Given the description of an element on the screen output the (x, y) to click on. 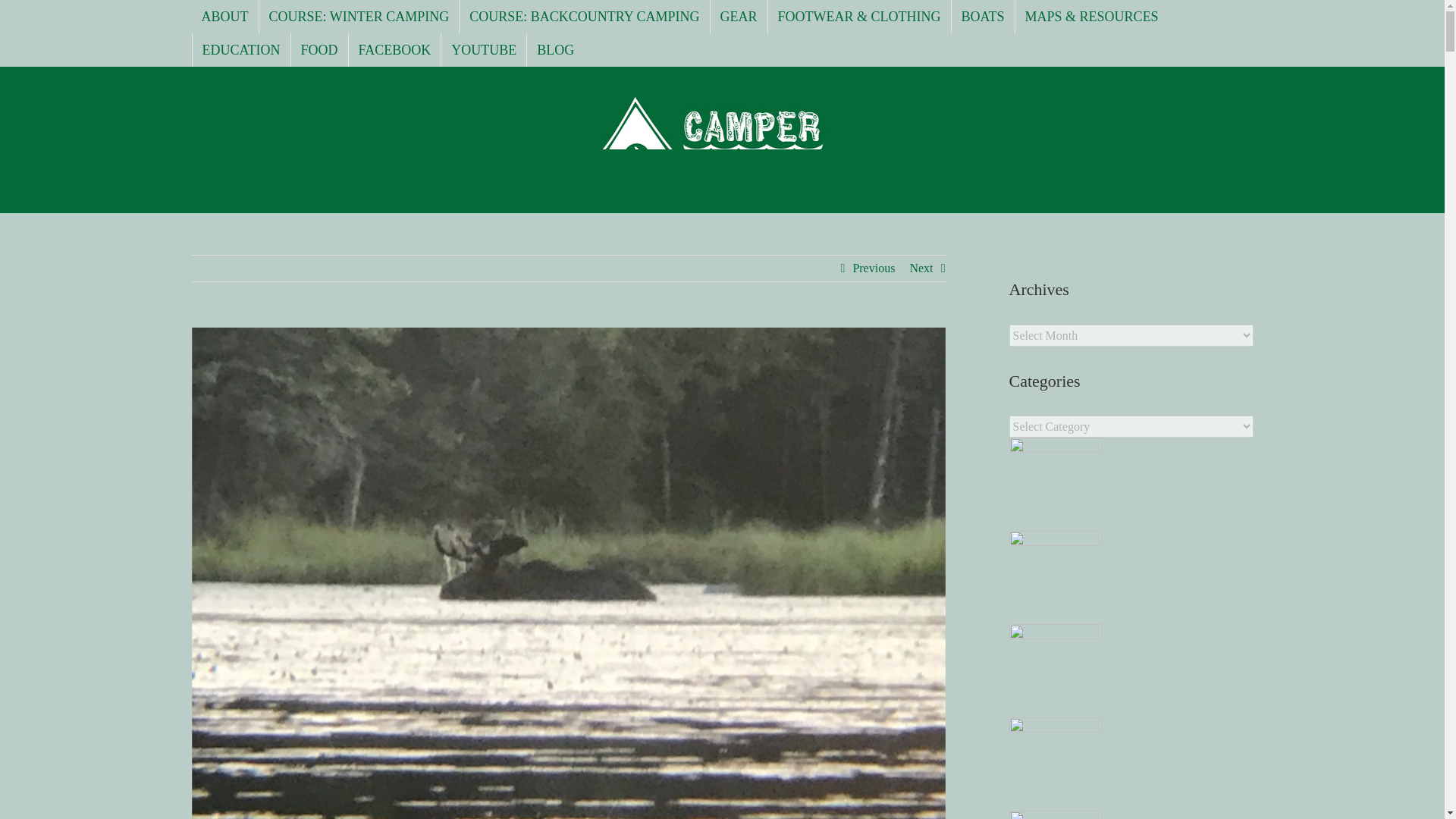
Next (920, 268)
COURSE: BACKCOUNTRY CAMPING (584, 16)
COURSE: WINTER CAMPING (359, 16)
YOUTUBE (483, 49)
Previous (873, 268)
BLOG (555, 49)
GEAR (738, 16)
EDUCATION (240, 49)
ABOUT (223, 16)
BOATS (983, 16)
